Given the description of an element on the screen output the (x, y) to click on. 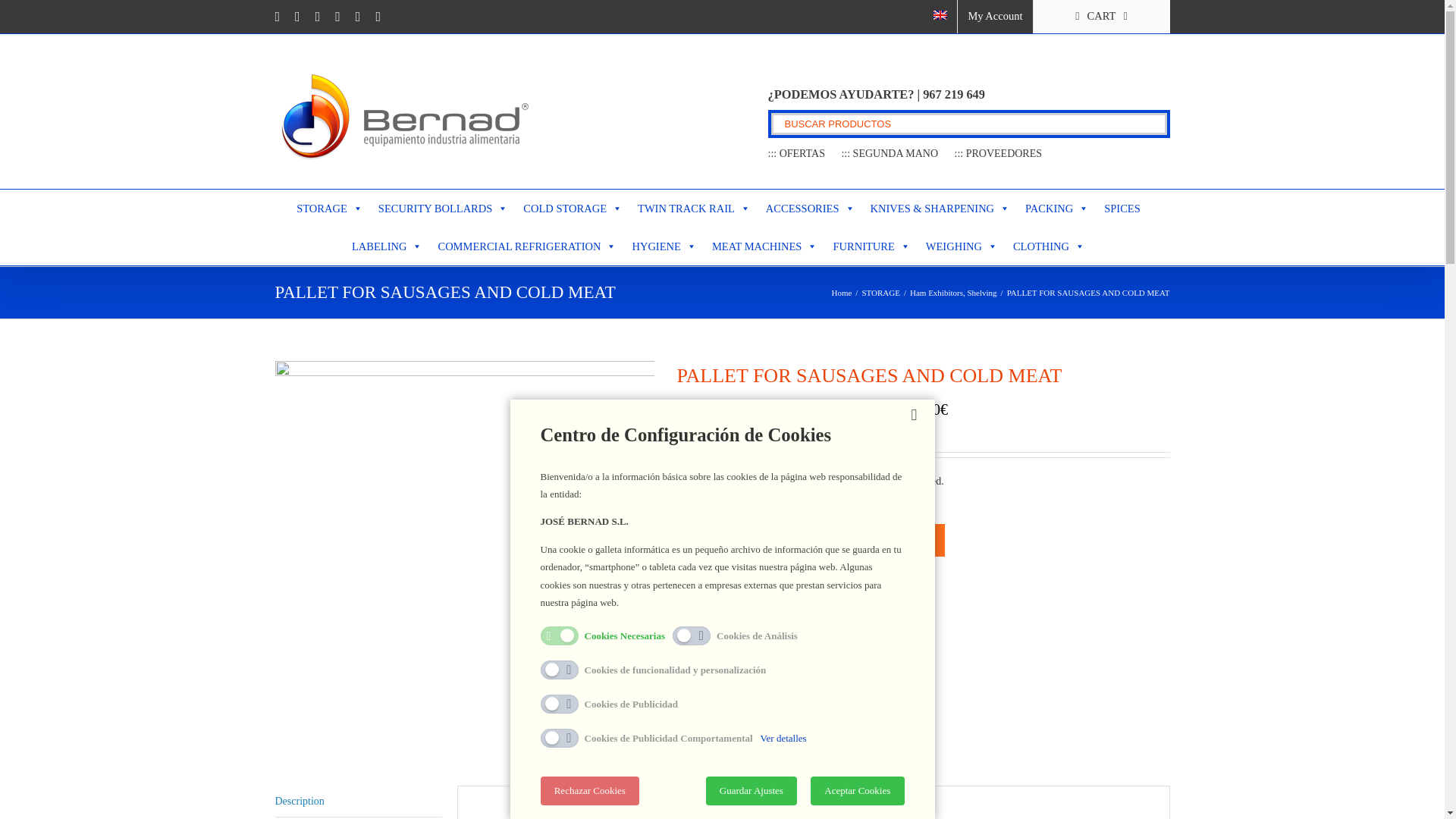
::: PROVEEDORES (998, 153)
My Account (995, 16)
Log In (1045, 146)
::: OFERTAS (795, 153)
1 (722, 540)
::: SEGUNDA MANO (889, 153)
STORAGE (329, 208)
CART (1100, 16)
